Given the description of an element on the screen output the (x, y) to click on. 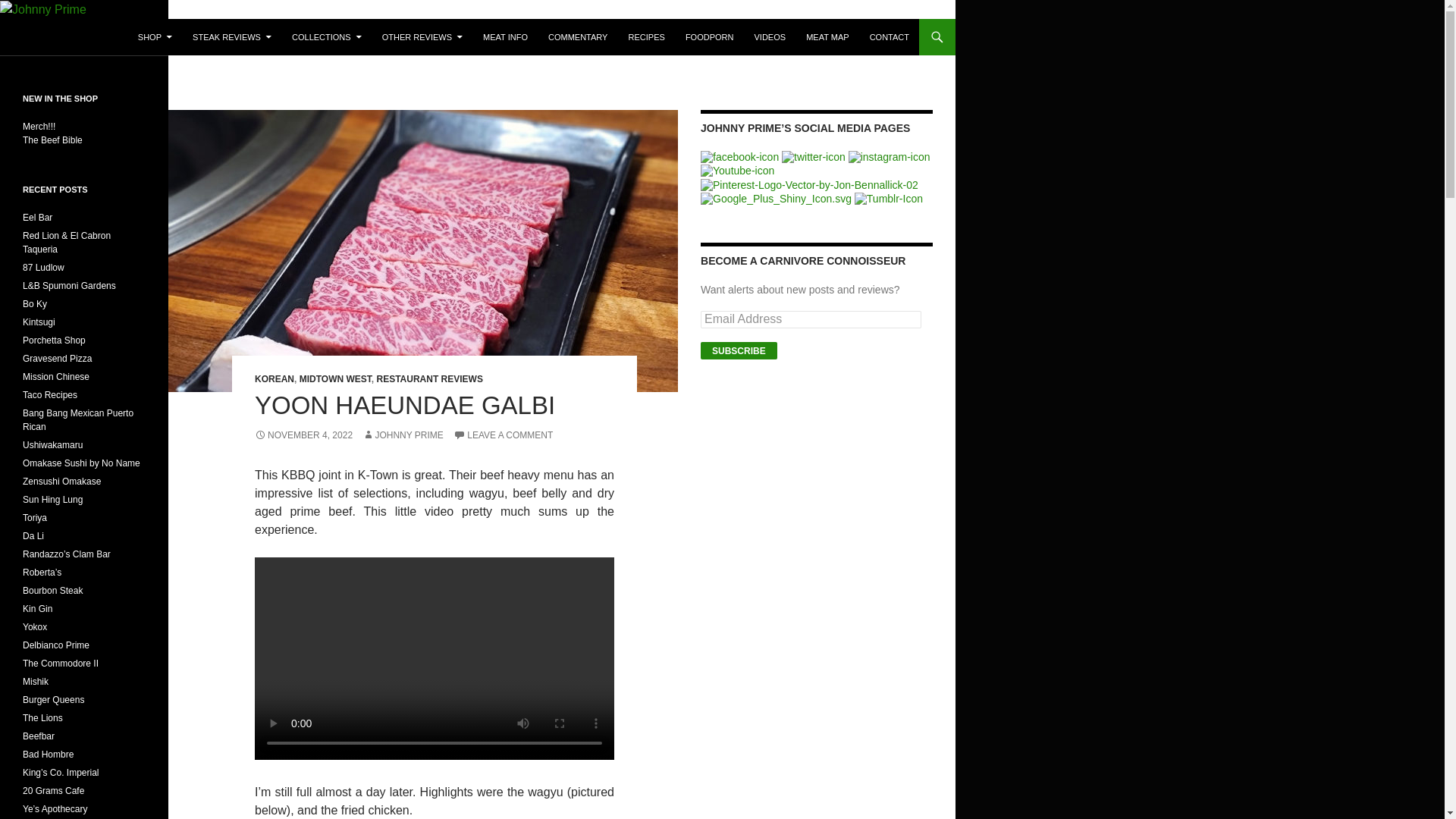
Johnny Prime (68, 36)
STEAK REVIEWS (232, 36)
COLLECTIONS (326, 36)
SHOP (154, 36)
OTHER REVIEWS (421, 36)
MEAT INFO (505, 36)
